Given the description of an element on the screen output the (x, y) to click on. 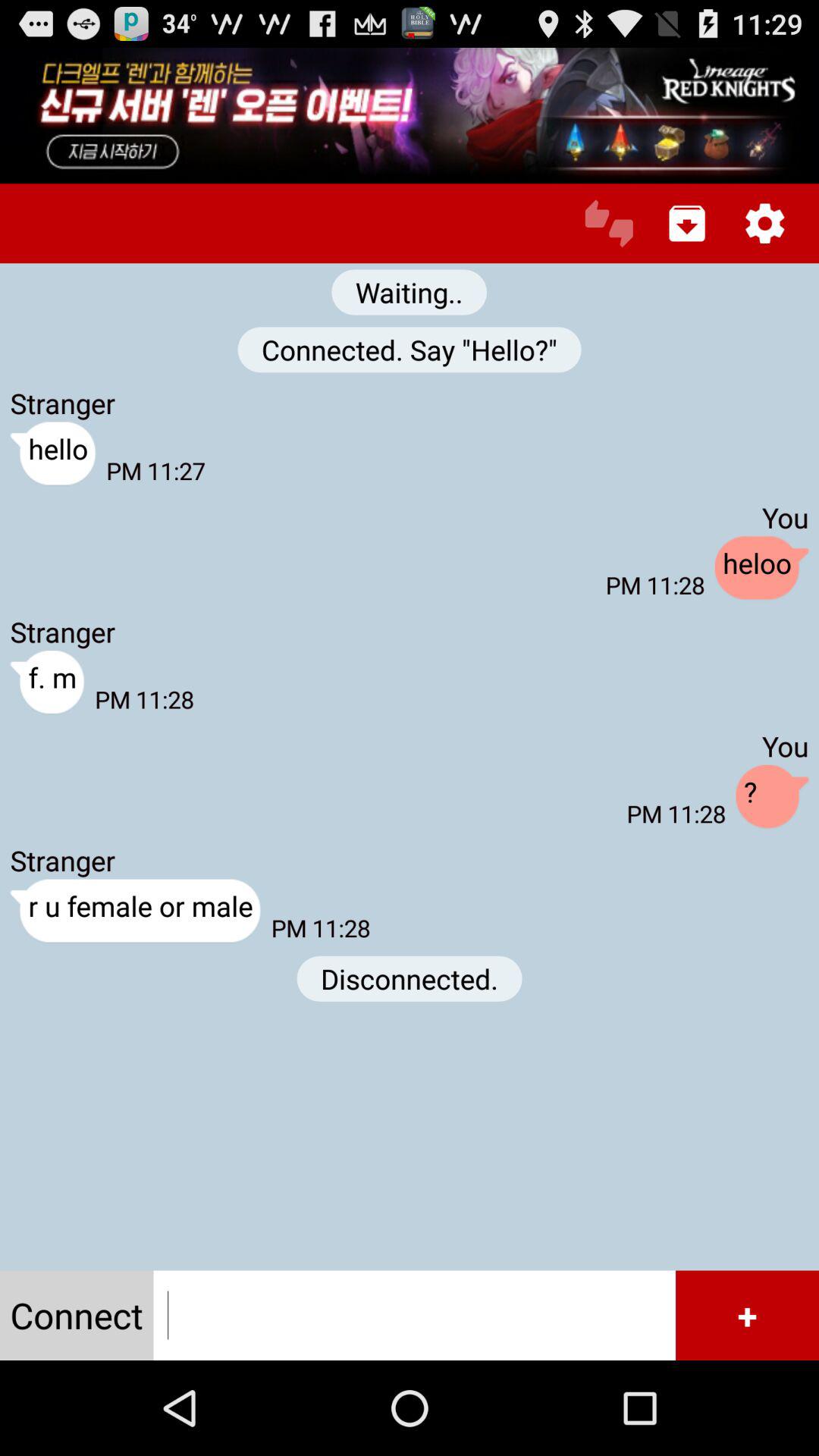
show app settings (764, 223)
